Given the description of an element on the screen output the (x, y) to click on. 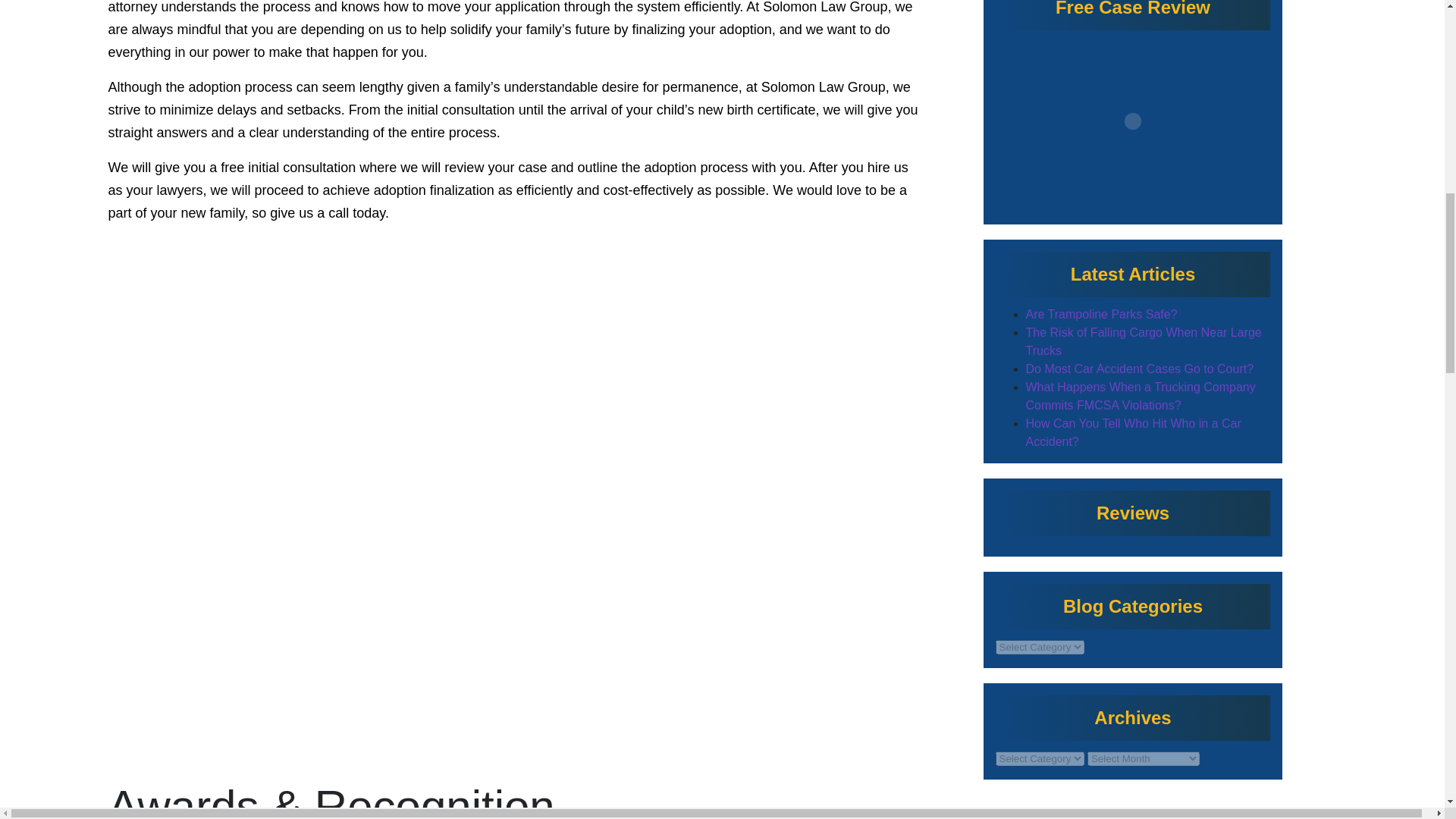
The Risk of Falling Cargo When Near Large Trucks (1142, 341)
Do Most Car Accident Cases Go to Court? (1139, 368)
How Can You Tell Who Hit Who in a Car Accident? (1132, 431)
Are Trampoline Parks Safe? (1100, 314)
